Given the description of an element on the screen output the (x, y) to click on. 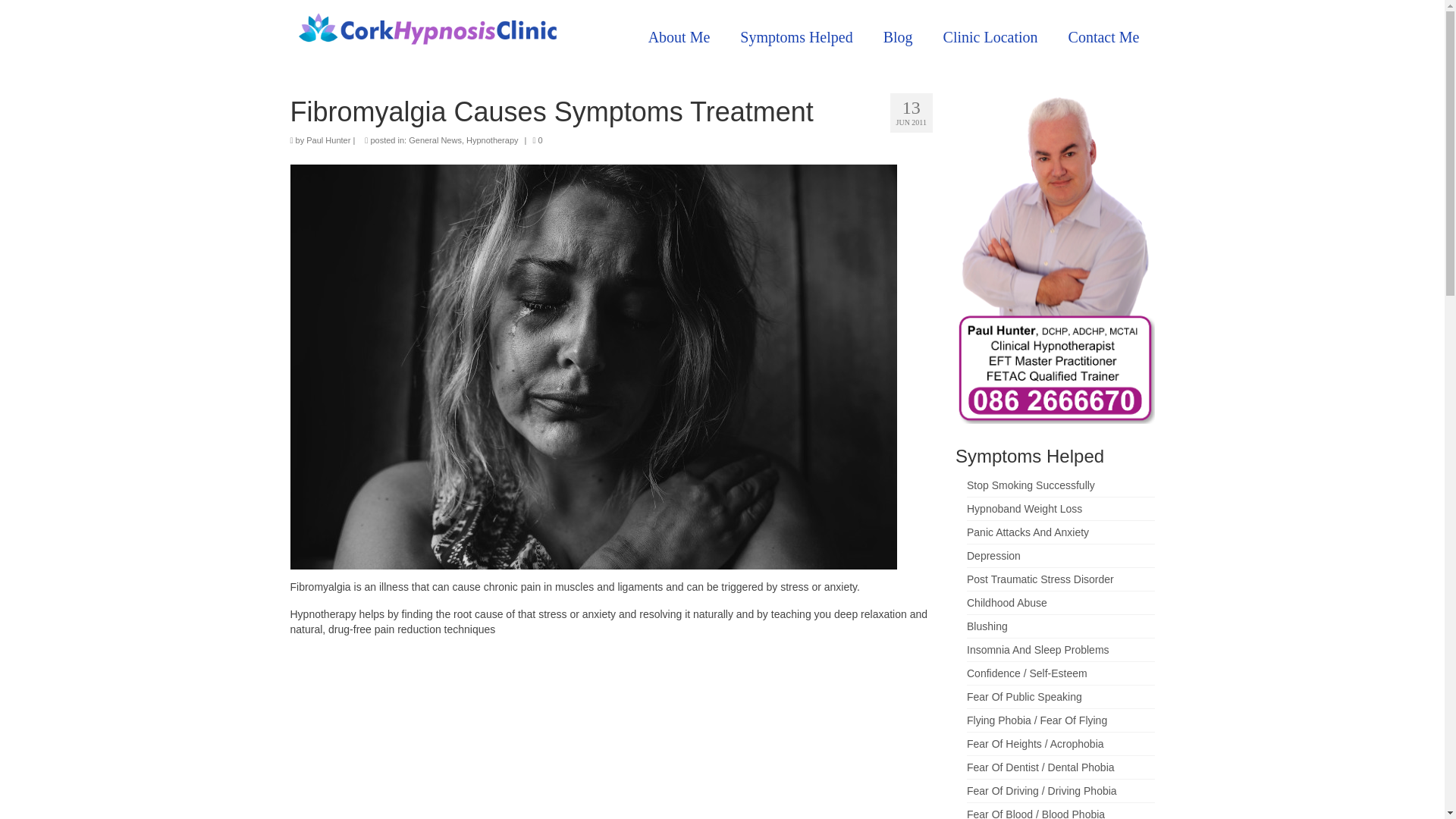
Hypnotherapy (491, 139)
Panic Attacks And Anxiety (1027, 532)
Fear Of Public Speaking (1023, 696)
Post Traumatic Stress Disorder (1039, 579)
Blog (897, 36)
Blushing (986, 625)
General News (435, 139)
Symptoms Helped (796, 36)
Depression (993, 555)
Stop Smoking Successfully (1030, 485)
Insomnia And Sleep Problems (1037, 649)
Childhood Abuse (1006, 603)
Hypnoband Weight Loss (1023, 508)
Contact Me (1103, 36)
